Given the description of an element on the screen output the (x, y) to click on. 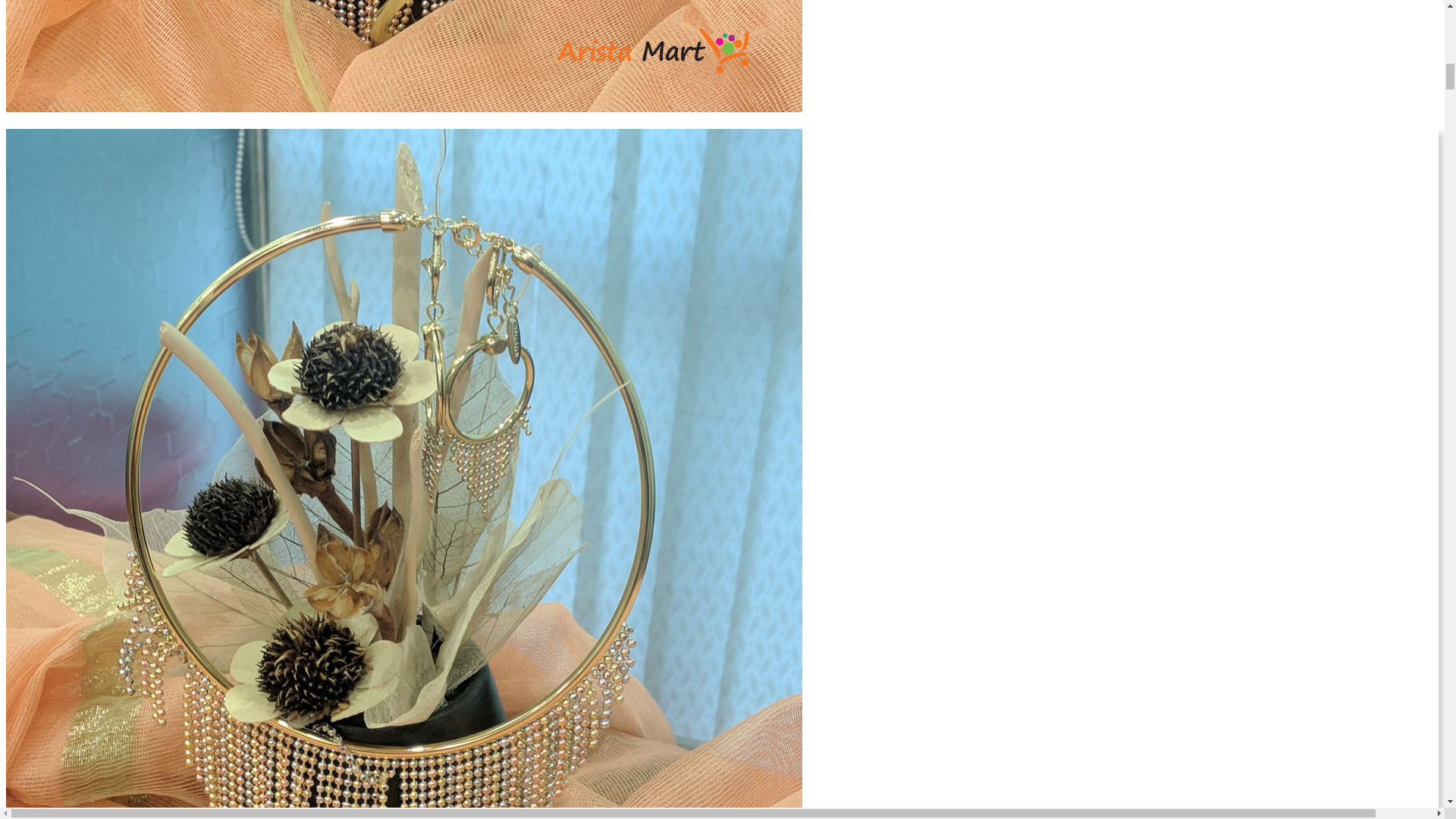
Choker Necklace (403, 56)
